Given the description of an element on the screen output the (x, y) to click on. 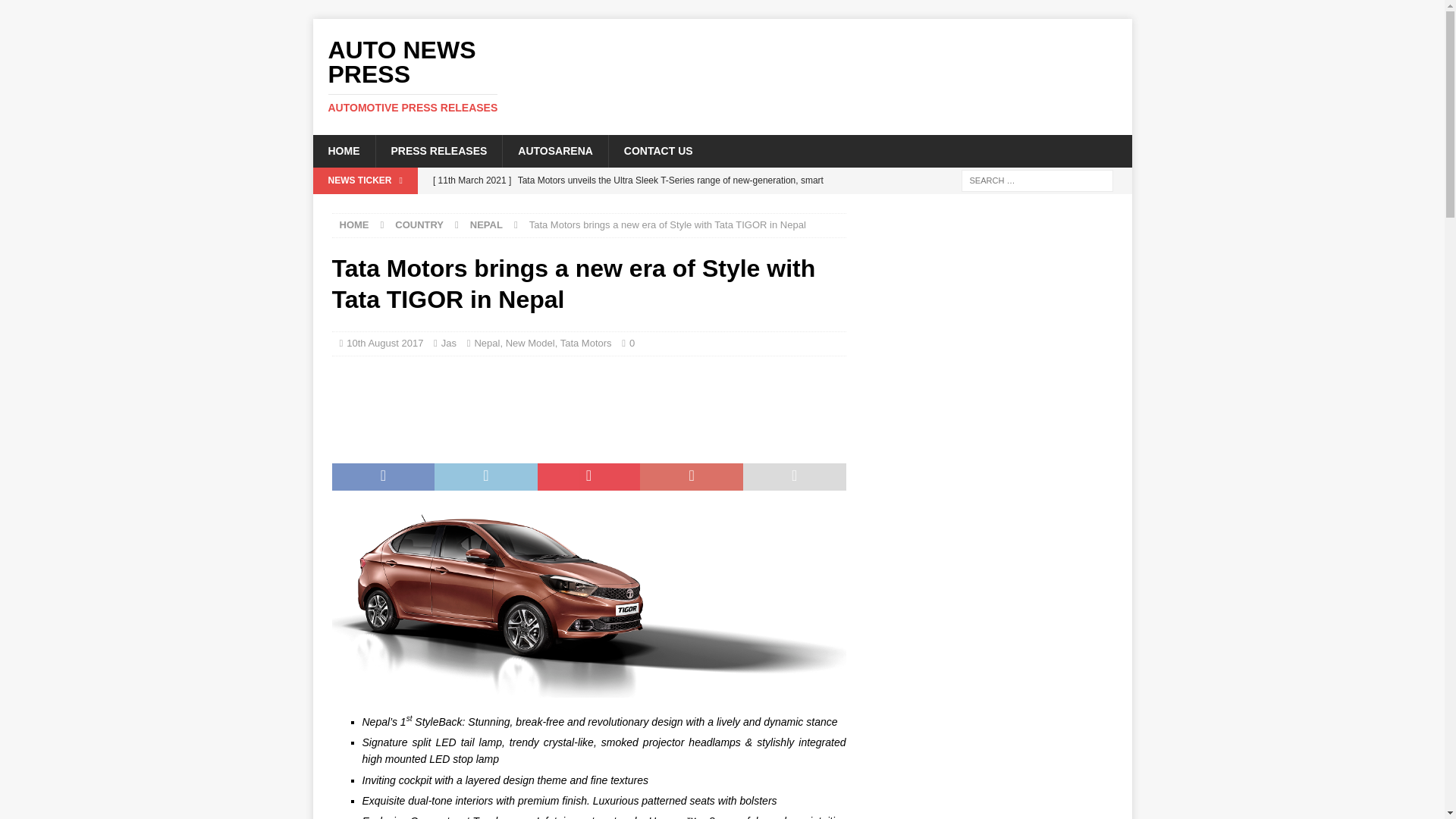
Search (56, 11)
10th August 2017 (384, 342)
HOME (354, 224)
Advertisement (868, 68)
Jas (449, 342)
New Model (529, 342)
Advertisement (607, 405)
Auto News Press (441, 75)
CONTACT US (441, 75)
COUNTRY (657, 151)
AUTOSARENA (419, 224)
Tata Motors (555, 151)
NEPAL (585, 342)
